Given the description of an element on the screen output the (x, y) to click on. 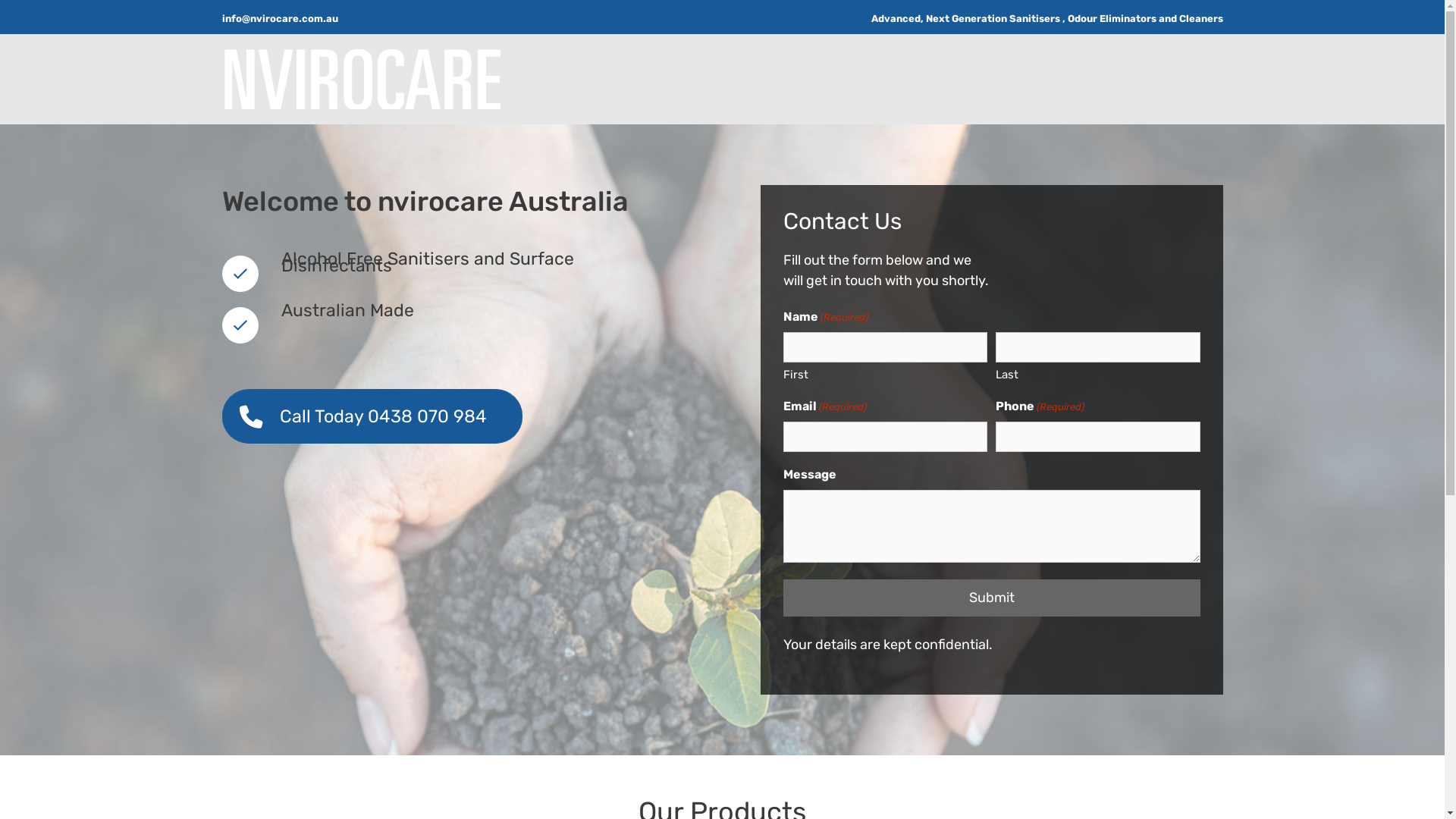
Australian Made Element type: hover (239, 325)
info@nvirocare.com.au Element type: text (279, 18)
Alcohol Free Sanitisers and Surface Disinfectants Element type: hover (239, 273)
Submit Element type: text (990, 597)
Call Today 0438 070 984 Element type: text (371, 416)
